Given the description of an element on the screen output the (x, y) to click on. 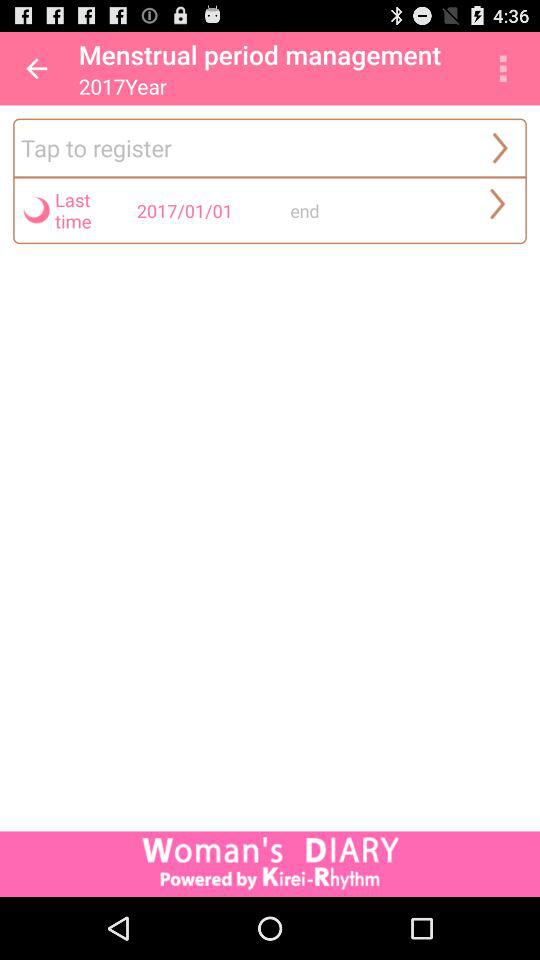
press app above the tap to register app (503, 67)
